Given the description of an element on the screen output the (x, y) to click on. 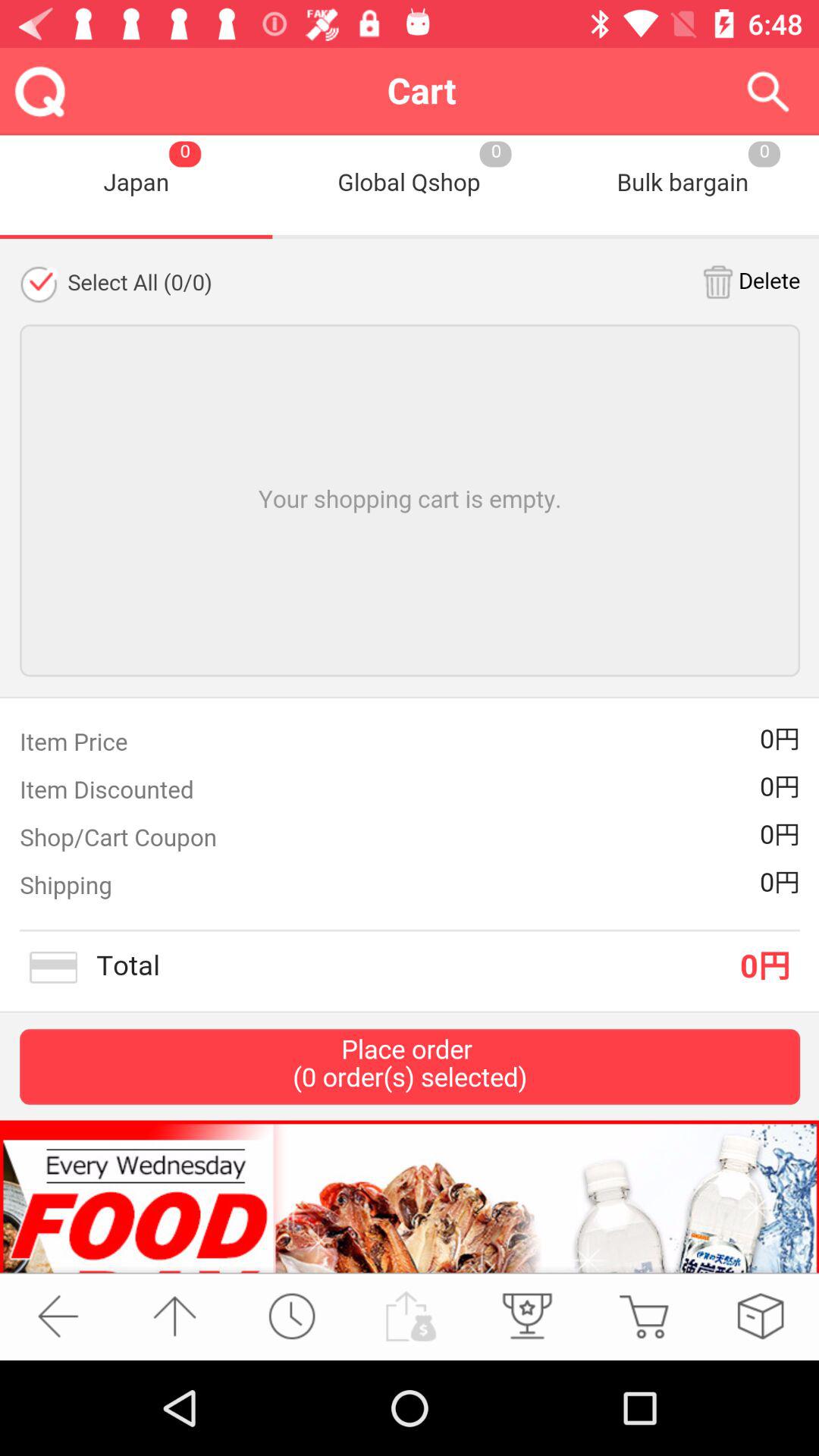
go back (58, 1316)
